Given the description of an element on the screen output the (x, y) to click on. 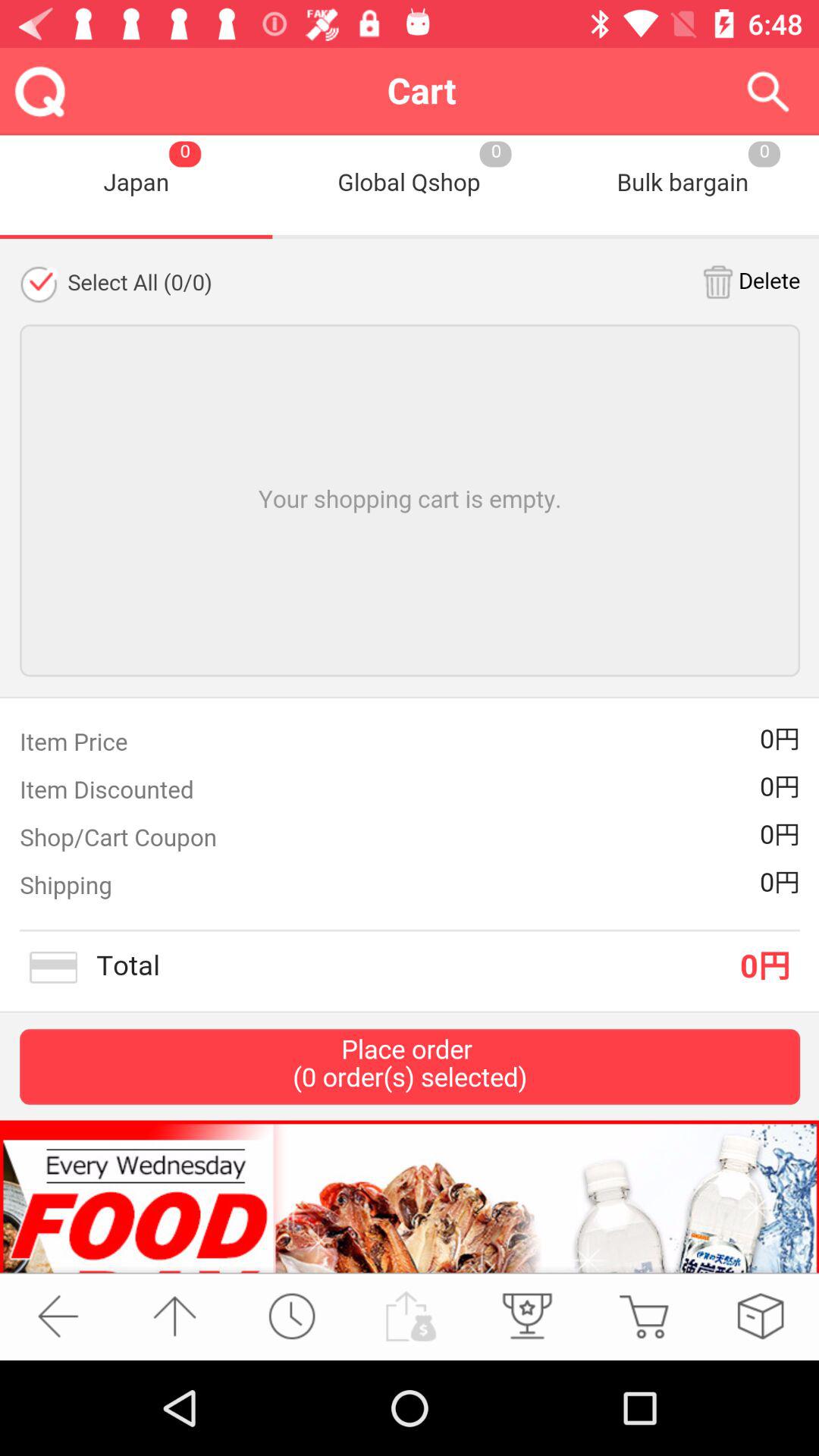
go back (58, 1316)
